Given the description of an element on the screen output the (x, y) to click on. 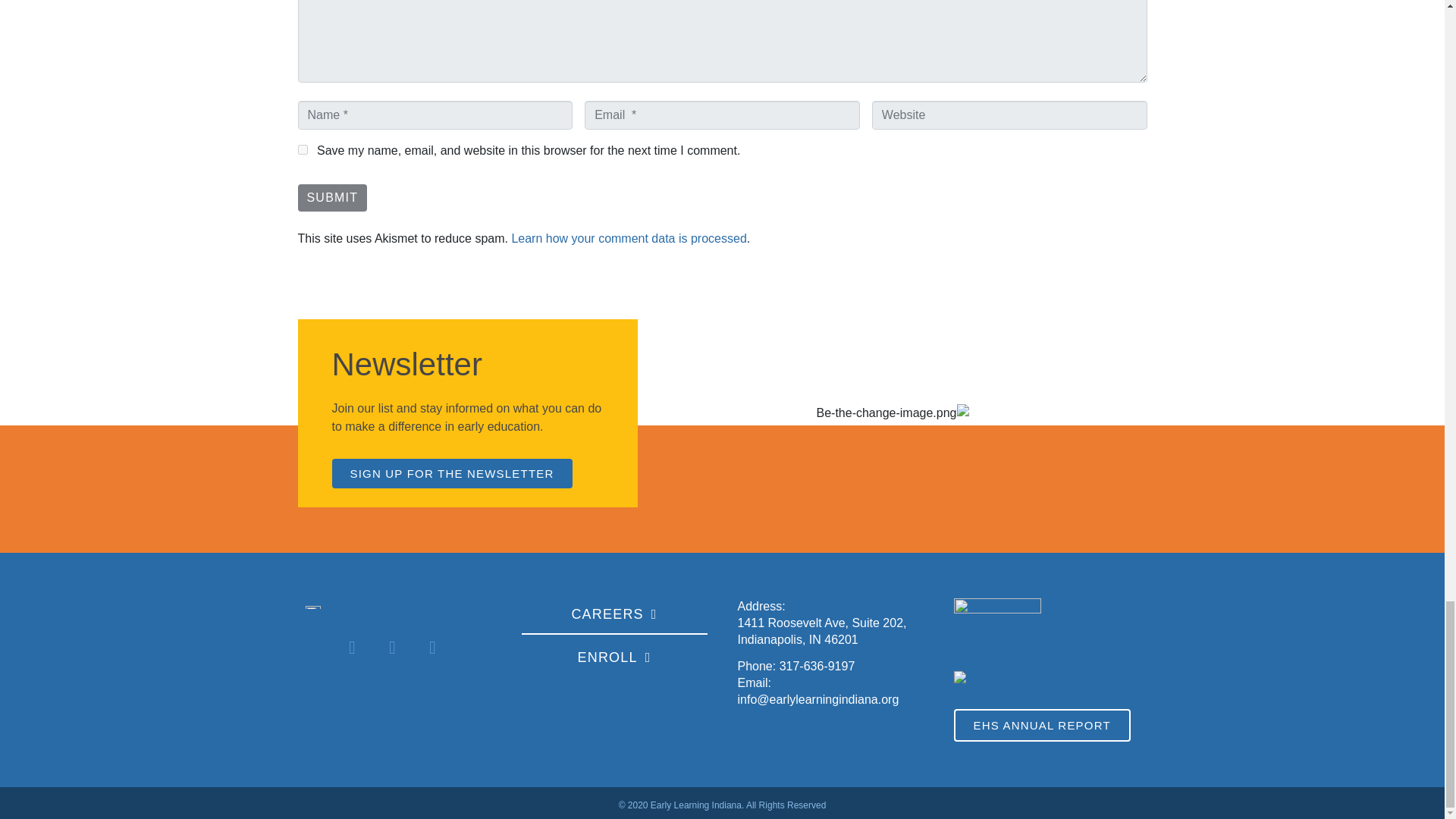
head-start-logo-color (1015, 679)
yes (302, 149)
